Given the description of an element on the screen output the (x, y) to click on. 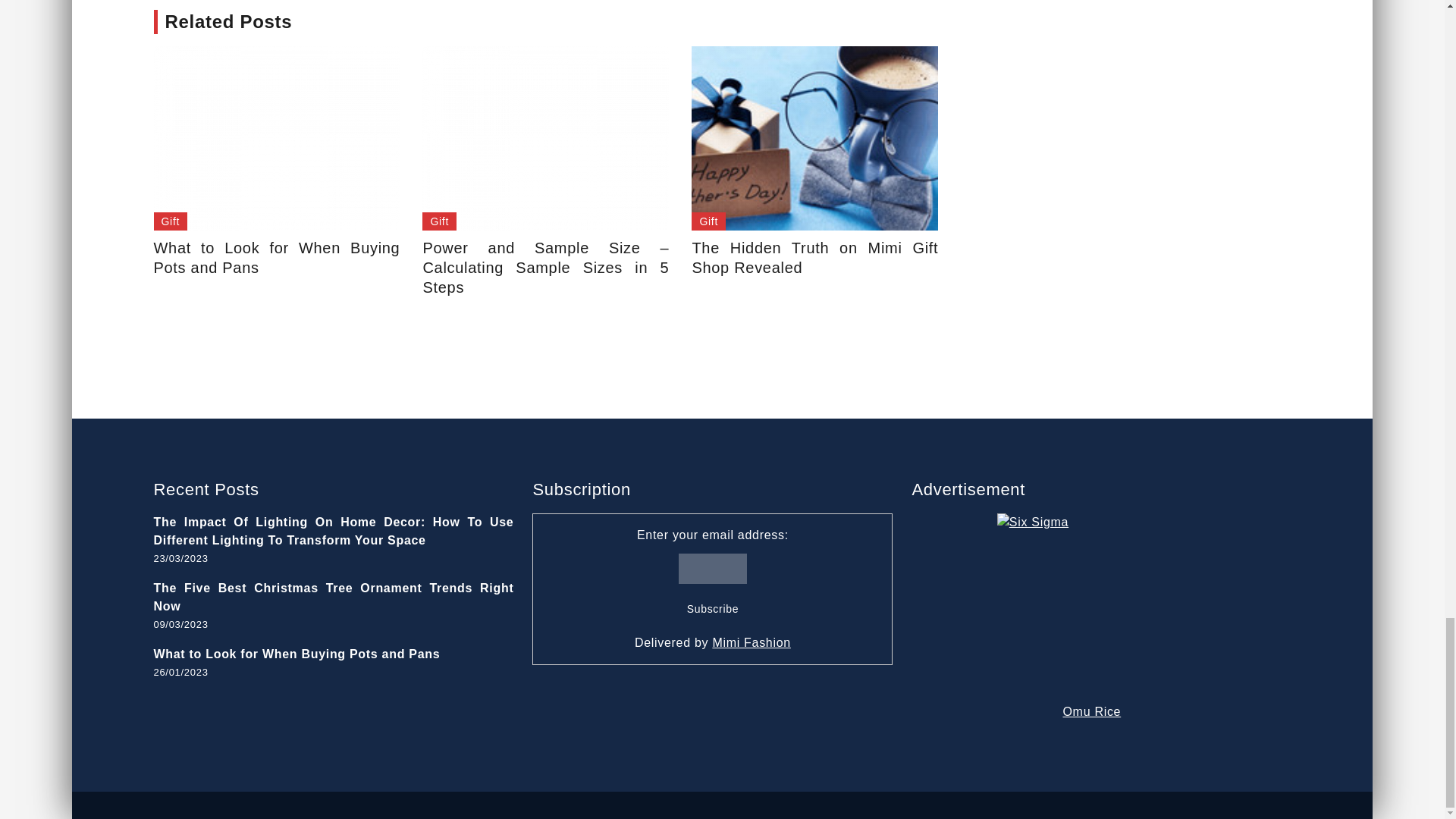
The Hidden Truth on Mimi Gift Shop Revealed (814, 137)
What to Look for When Buying Pots and Pans (275, 257)
Gift (169, 220)
Gift (439, 220)
Gift (708, 220)
What to Look for When Buying Pots and Pans (275, 137)
Power and Sample Size - Calculating Sample Sizes in 5 Steps (545, 137)
Six Sigma (1091, 607)
The Hidden Truth on Mimi Gift Shop Revealed (814, 257)
Subscribe (713, 608)
